Given the description of an element on the screen output the (x, y) to click on. 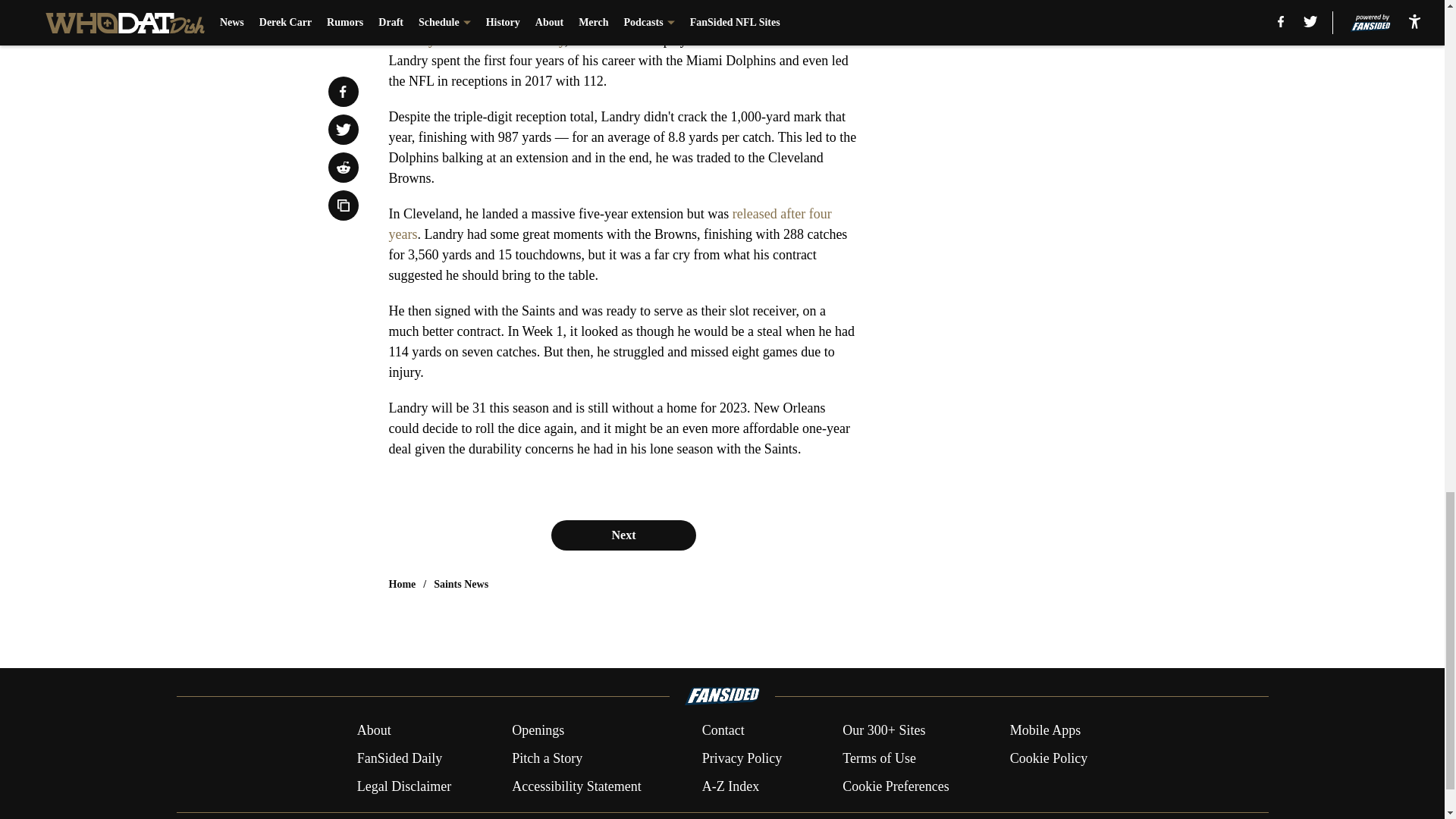
released after four years (609, 223)
they turned to Jarvis Landry (488, 39)
Saints News (460, 584)
Next (622, 535)
Contact (722, 730)
Openings (538, 730)
About (373, 730)
Home (401, 584)
